Given the description of an element on the screen output the (x, y) to click on. 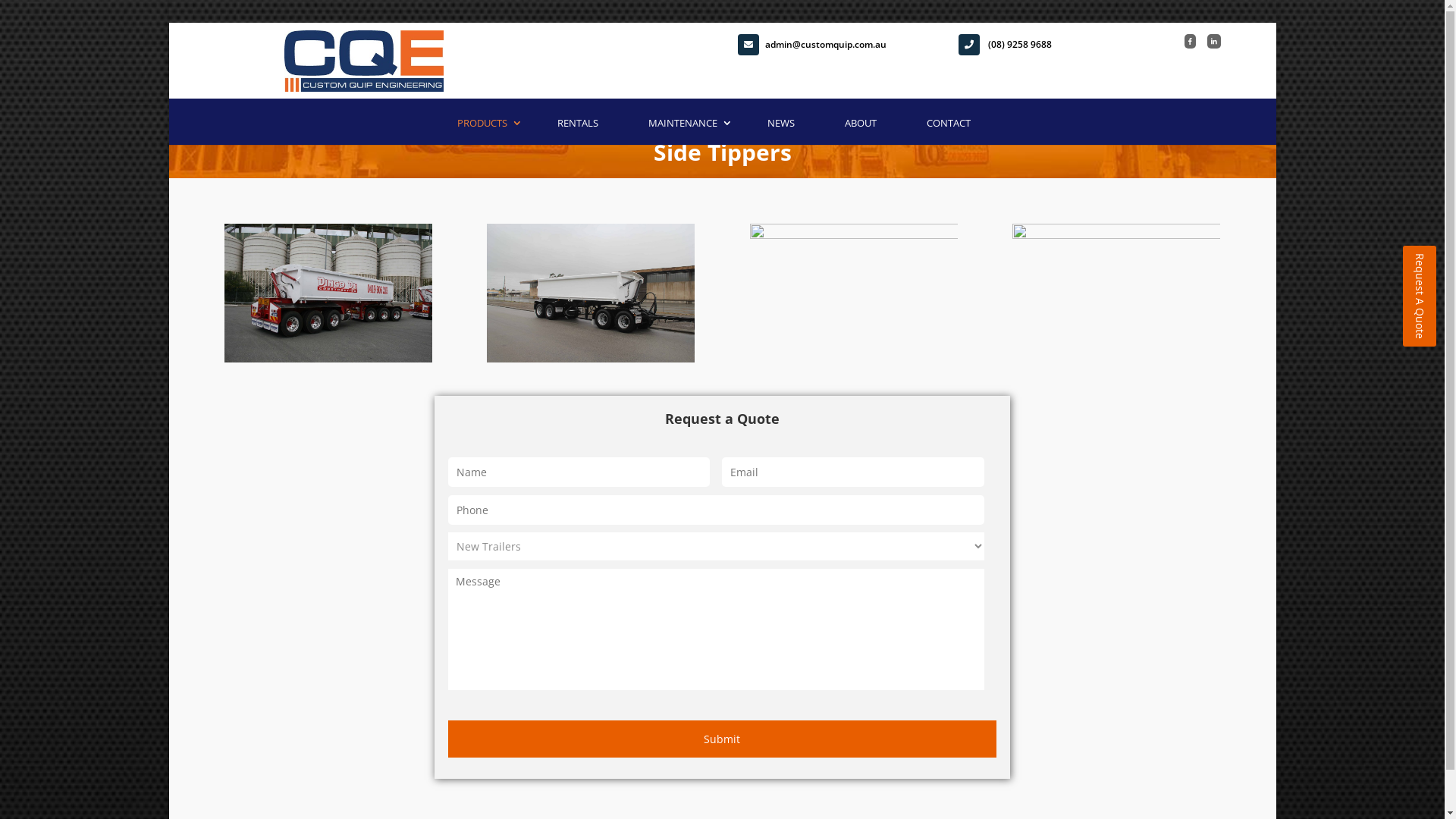
RENTALS Element type: text (577, 126)
ABOUT Element type: text (860, 126)
PRODUCTS Element type: text (482, 126)
Submit Element type: text (722, 738)
CONTACT Element type: text (948, 126)
(08) 9258 9688 Element type: text (974, 48)
NEWS Element type: text (780, 126)
admin@customquip.com.au Element type: text (754, 48)
Request A Quote Element type: text (1419, 295)
MAINTENANCE Element type: text (682, 126)
